Given the description of an element on the screen output the (x, y) to click on. 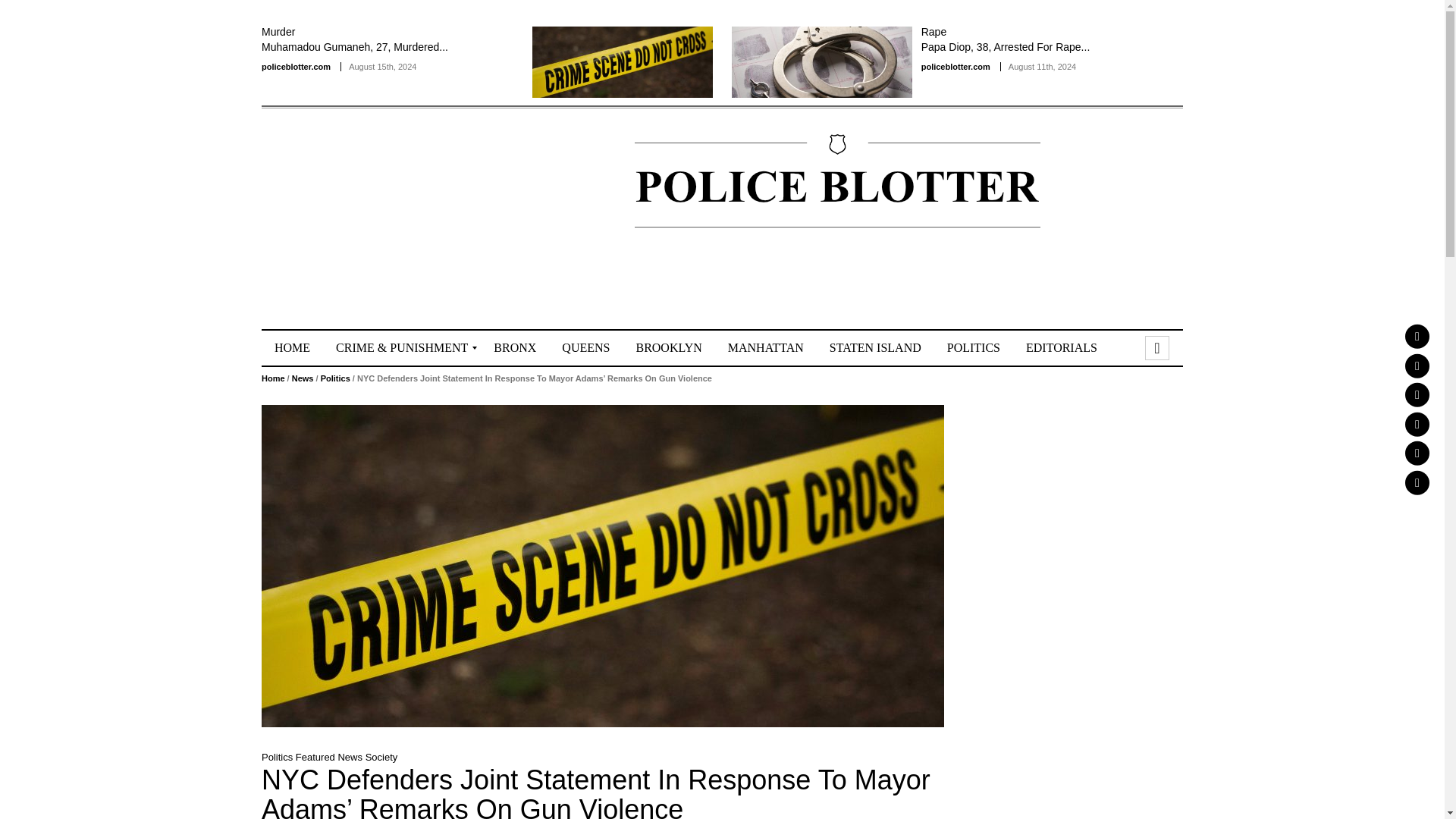
Search (1157, 347)
Search (1157, 347)
STATEN ISLAND (875, 347)
policeblotter.com (296, 66)
Politics (335, 377)
Posts by policeblotter.com (296, 66)
Muhamadou Gumaneh, 27, Murdered (622, 60)
Advertisement (1137, 290)
BROOKLYN (668, 347)
News (303, 377)
